Given the description of an element on the screen output the (x, y) to click on. 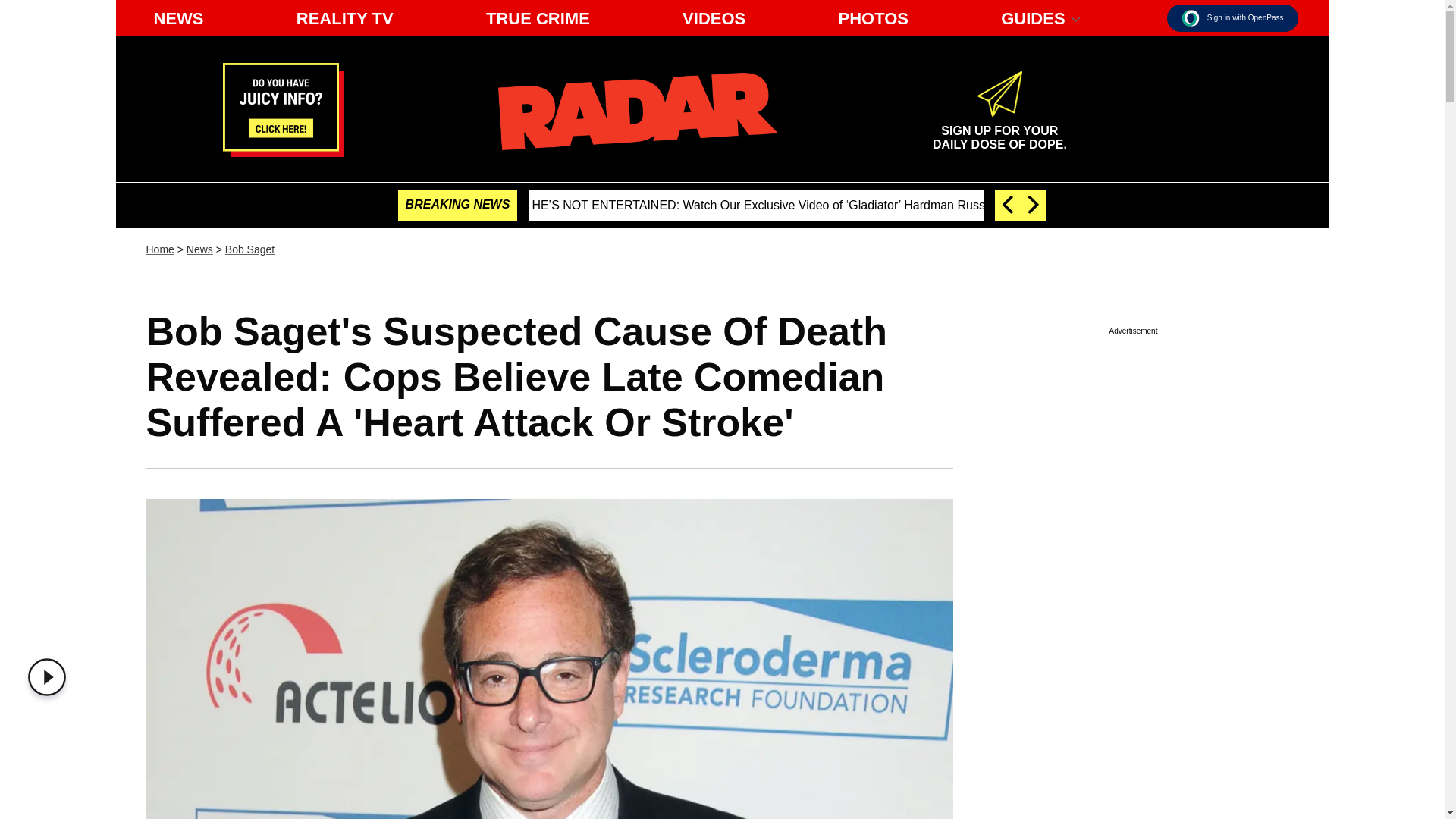
PHOTOS (872, 18)
Radar Online (999, 130)
TRUE CRIME (637, 110)
Home (537, 18)
News (159, 249)
Email us your tip (199, 249)
NEWS (282, 152)
Sign in with OpenPass (178, 18)
REALITY TV (1232, 17)
Bob Saget (344, 18)
Trinity Audio Player (250, 249)
OpenPass Logo (50, 677)
VIDEOS (1190, 17)
Sign up for your daily dose of dope. (713, 18)
